Given the description of an element on the screen output the (x, y) to click on. 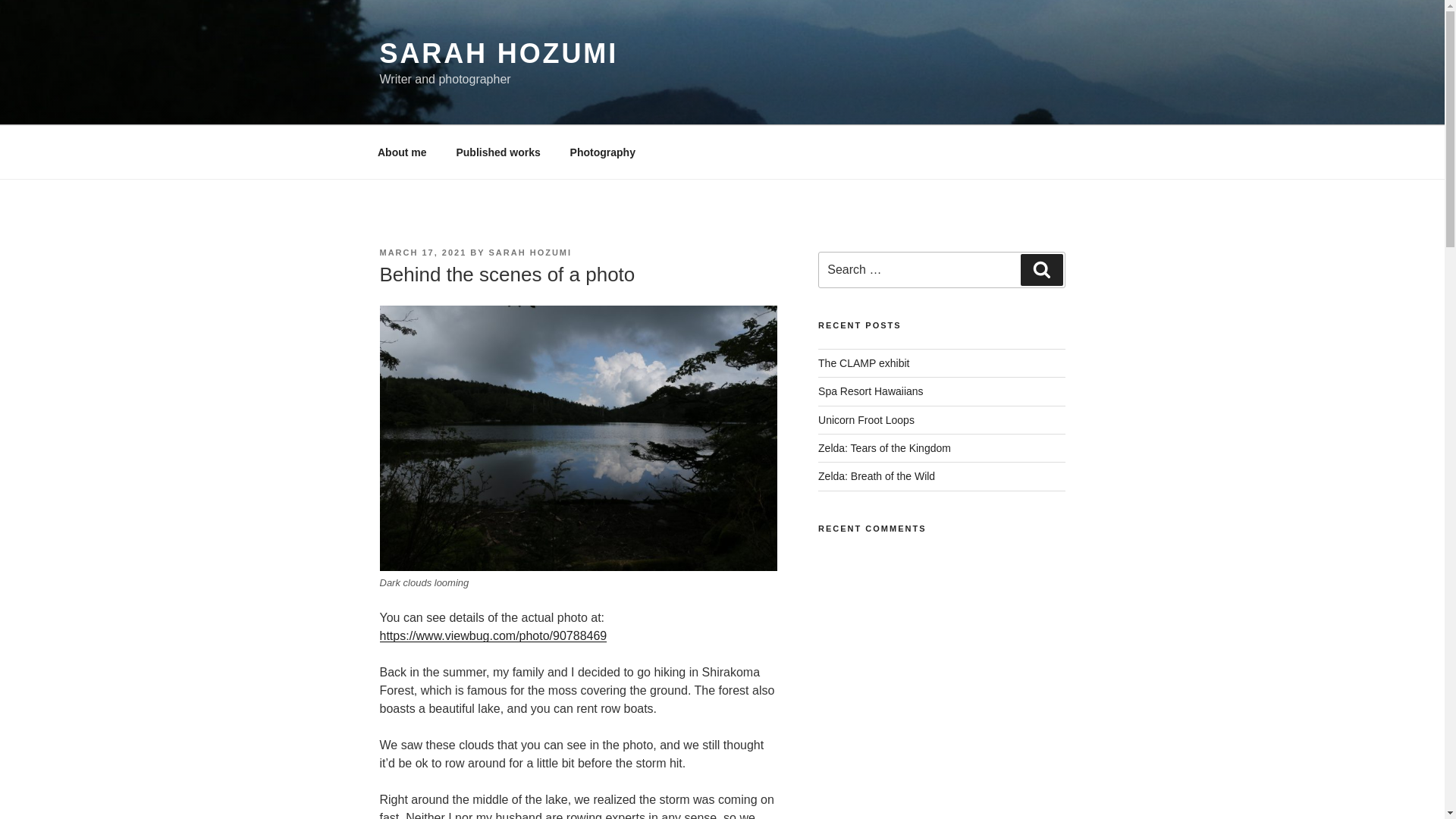
The CLAMP exhibit (863, 363)
SARAH HOZUMI (497, 52)
Spa Resort Hawaiians (870, 390)
Zelda: Breath of the Wild (876, 476)
Photography (601, 151)
Search (1041, 269)
SARAH HOZUMI (530, 252)
About me (401, 151)
MARCH 17, 2021 (421, 252)
Unicorn Froot Loops (866, 419)
